Given the description of an element on the screen output the (x, y) to click on. 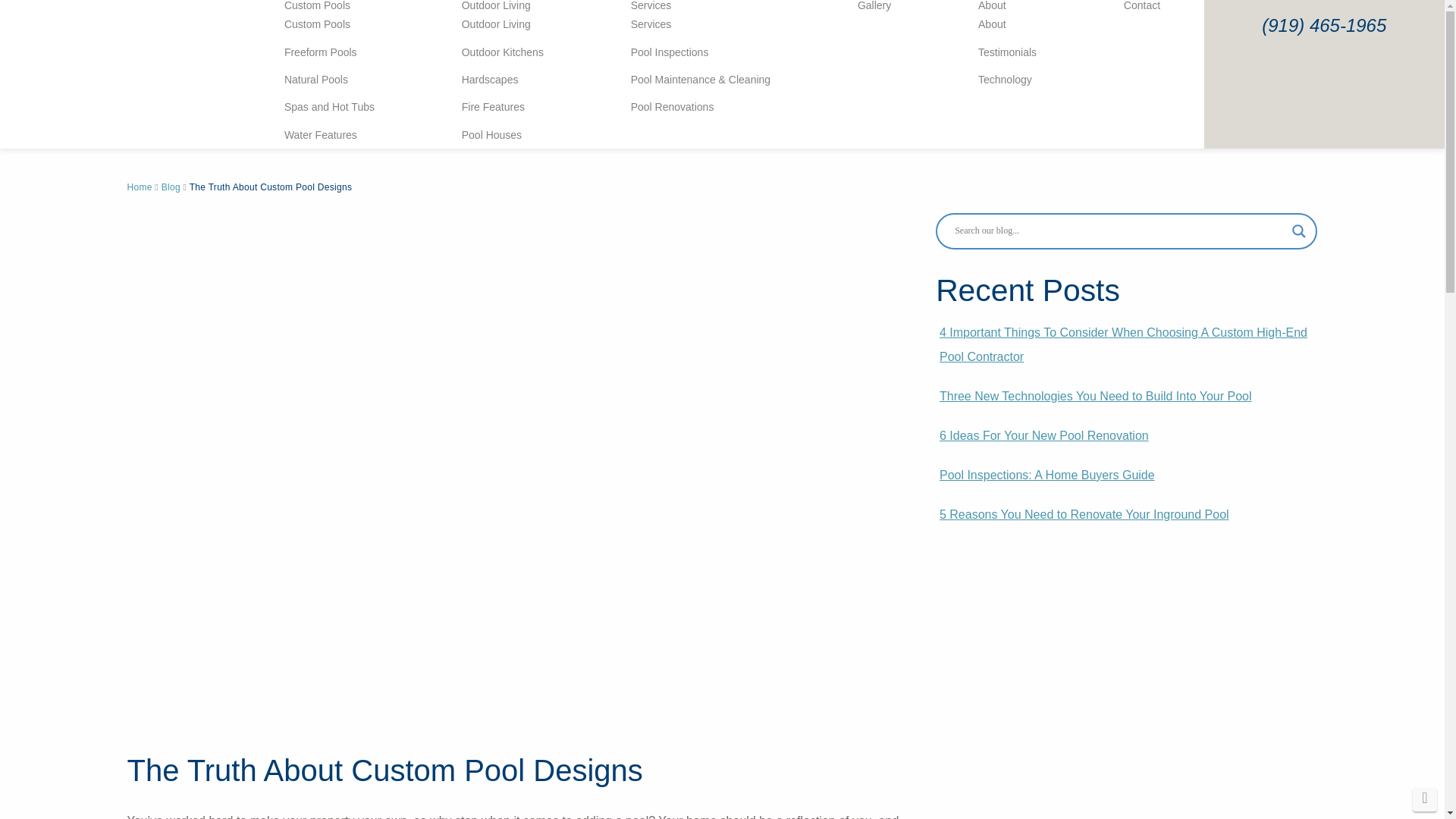
Custom Pools (329, 5)
Freeform Pools (329, 51)
Freeform Pools (329, 51)
Custom Pools (329, 5)
Outdoor Living (502, 5)
Testimonials (1007, 51)
Fire Features (502, 106)
Services (700, 5)
Natural Pools (329, 79)
Outdoor Kitchens (502, 51)
